Given the description of an element on the screen output the (x, y) to click on. 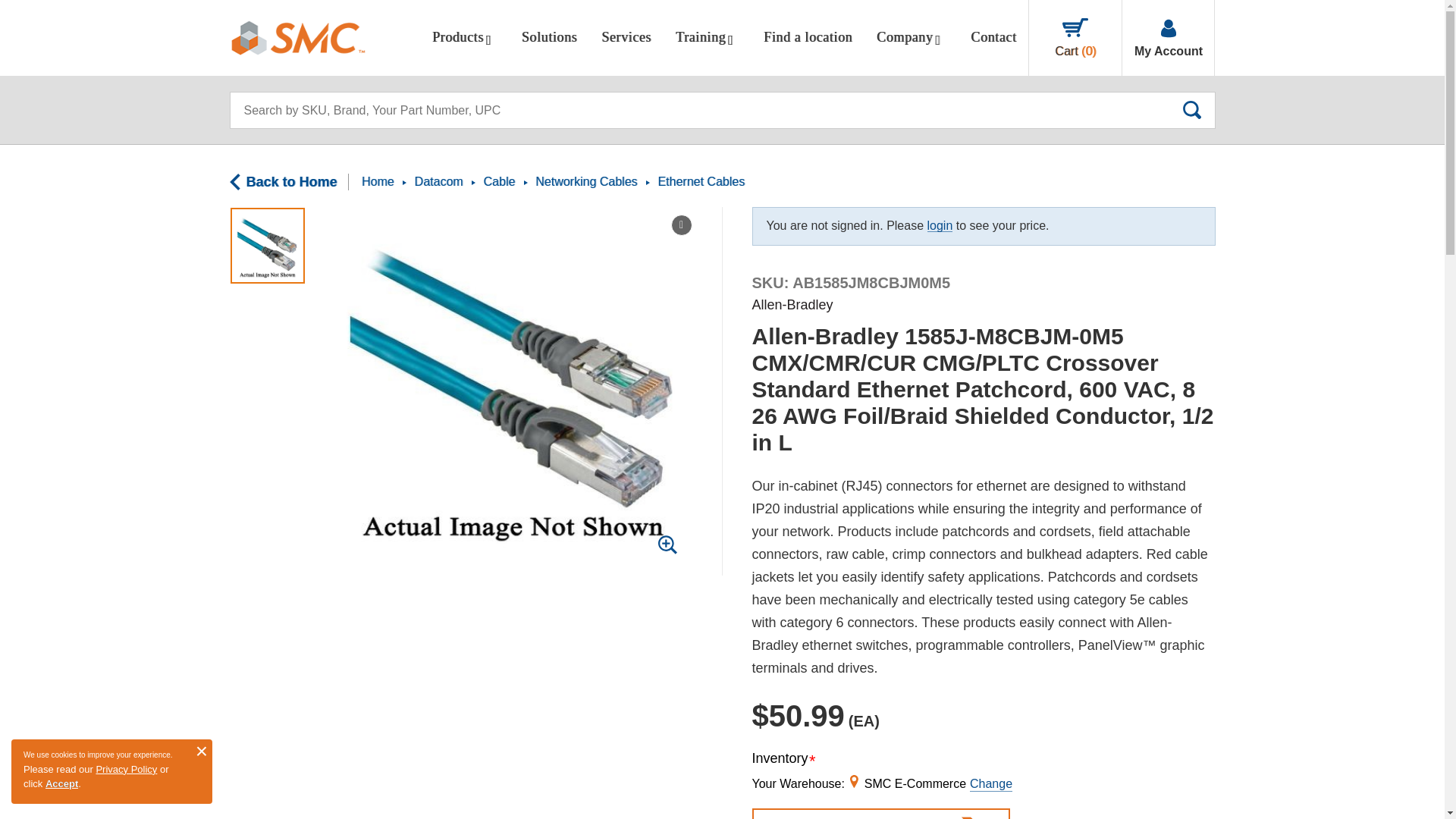
Datacom (438, 181)
Privacy Policy (126, 768)
Accept (61, 783)
Products (464, 38)
Home (377, 181)
Networking Cables (586, 181)
Ethernet Cables (701, 181)
Cable (499, 181)
